Given the description of an element on the screen output the (x, y) to click on. 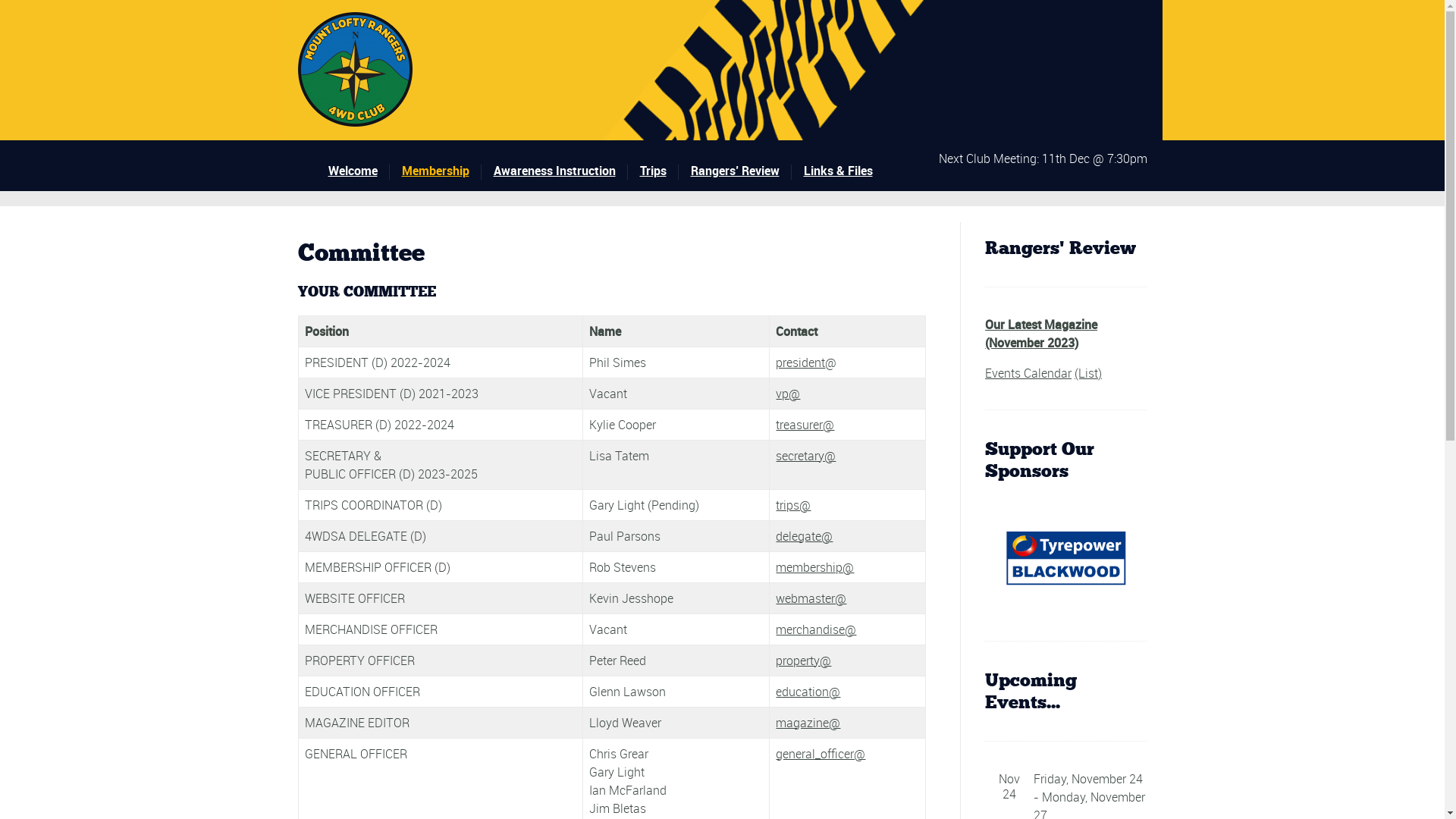
Membership Element type: text (441, 171)
treasurer@ Element type: text (804, 424)
education@ Element type: text (807, 691)
Awareness Instruction Element type: text (559, 171)
general_officer@ Element type: text (820, 753)
Links & Files Element type: text (843, 171)
magazine@ Element type: text (807, 722)
vp@ Element type: text (787, 393)
(List) Element type: text (1087, 372)
trips@ Element type: text (792, 504)
property@ Element type: text (803, 660)
delegate@ Element type: text (803, 535)
president Element type: text (800, 362)
membership@ Element type: text (814, 566)
Trips Element type: text (659, 171)
Welcome Element type: text (358, 171)
Our Latest Magazine (November 2023) Element type: text (1041, 333)
merchandise@ Element type: text (815, 629)
Events Calendar Element type: text (1028, 372)
webmaster@ Element type: text (810, 597)
secretary@ Element type: text (805, 455)
